Given the description of an element on the screen output the (x, y) to click on. 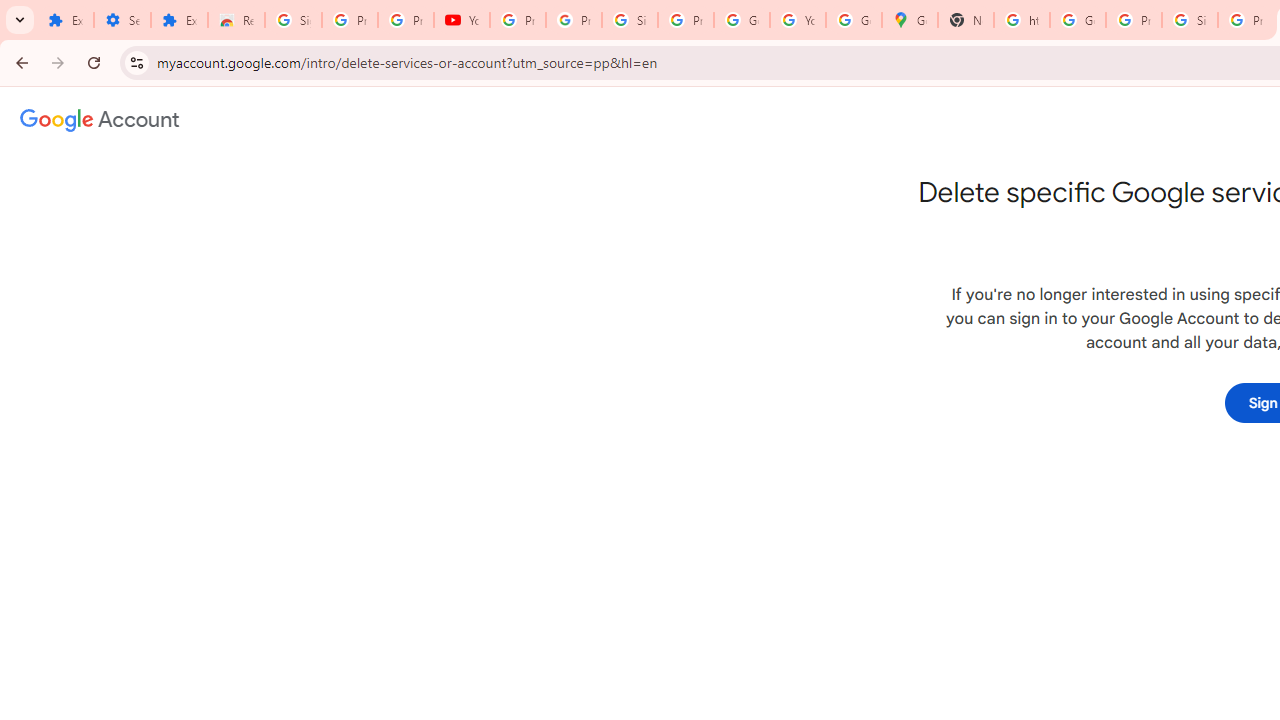
YouTube (797, 20)
Google Account (742, 20)
Reviews: Helix Fruit Jump Arcade Game (235, 20)
Extensions (65, 20)
Sign in - Google Accounts (293, 20)
New Tab (966, 20)
Sign in - Google Accounts (629, 20)
Sign in - Google Accounts (1190, 20)
https://scholar.google.com/ (1021, 20)
